Given the description of an element on the screen output the (x, y) to click on. 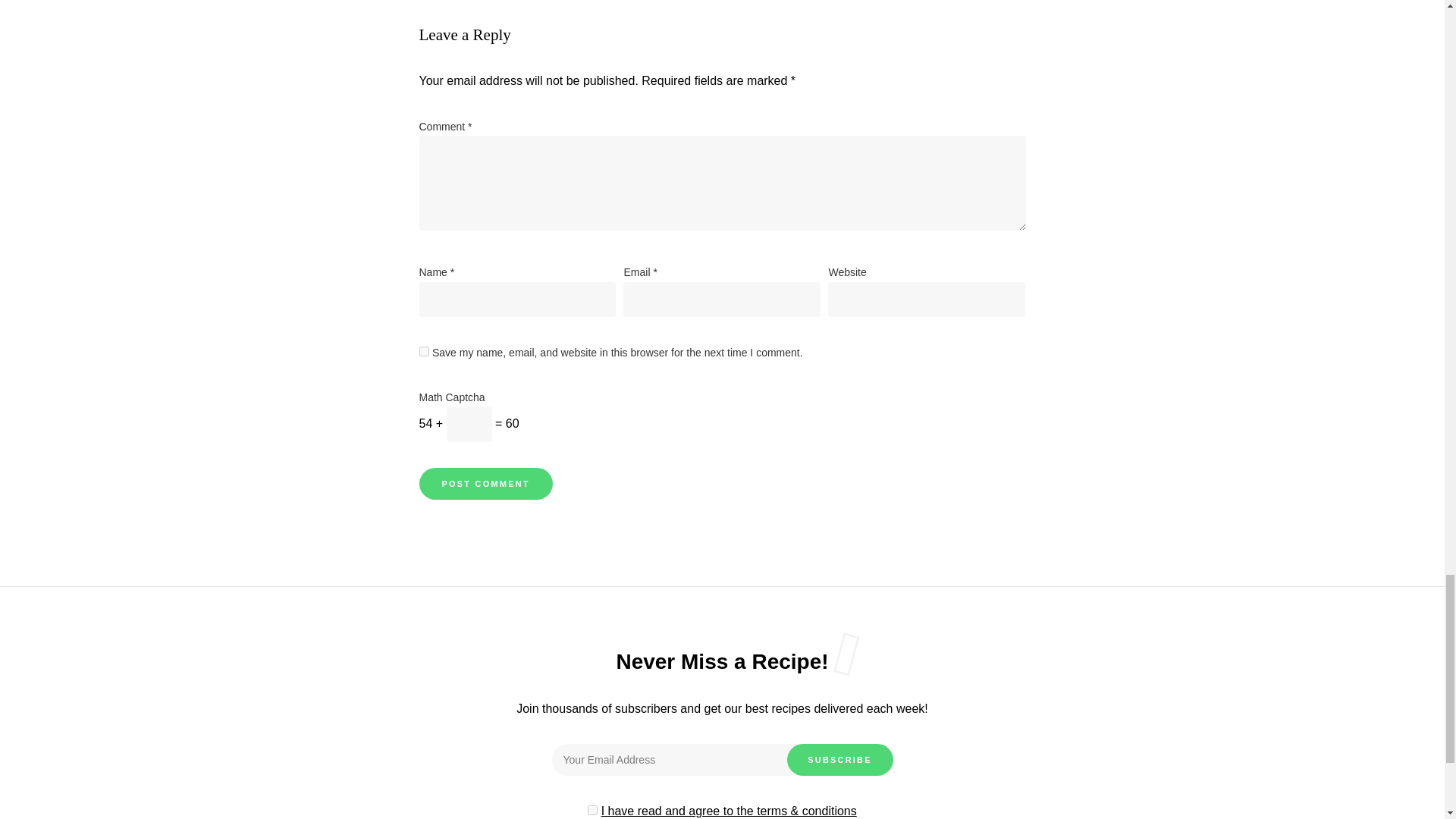
yes (423, 351)
Subscribe (840, 759)
1 (592, 809)
Post Comment (485, 483)
